Given the description of an element on the screen output the (x, y) to click on. 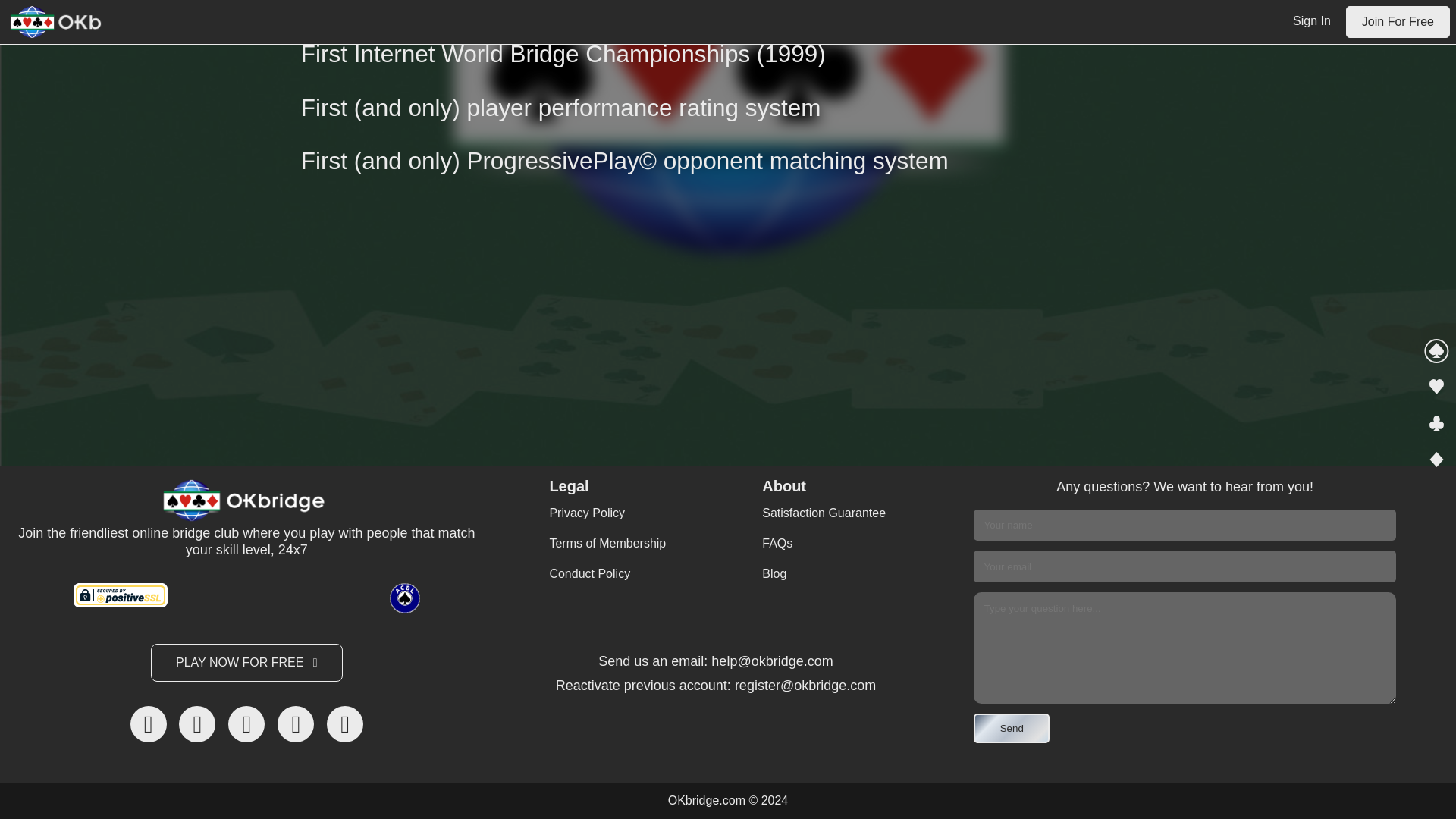
Satisfaction Guarantee (823, 513)
Terms of Membership (606, 543)
PLAY NOW FOR FREE (246, 662)
Send (1011, 727)
Blog (823, 573)
Privacy Policy (606, 513)
Send (1011, 727)
About OKb (162, 17)
Conduct Policy (606, 573)
FAQs (823, 543)
